Given the description of an element on the screen output the (x, y) to click on. 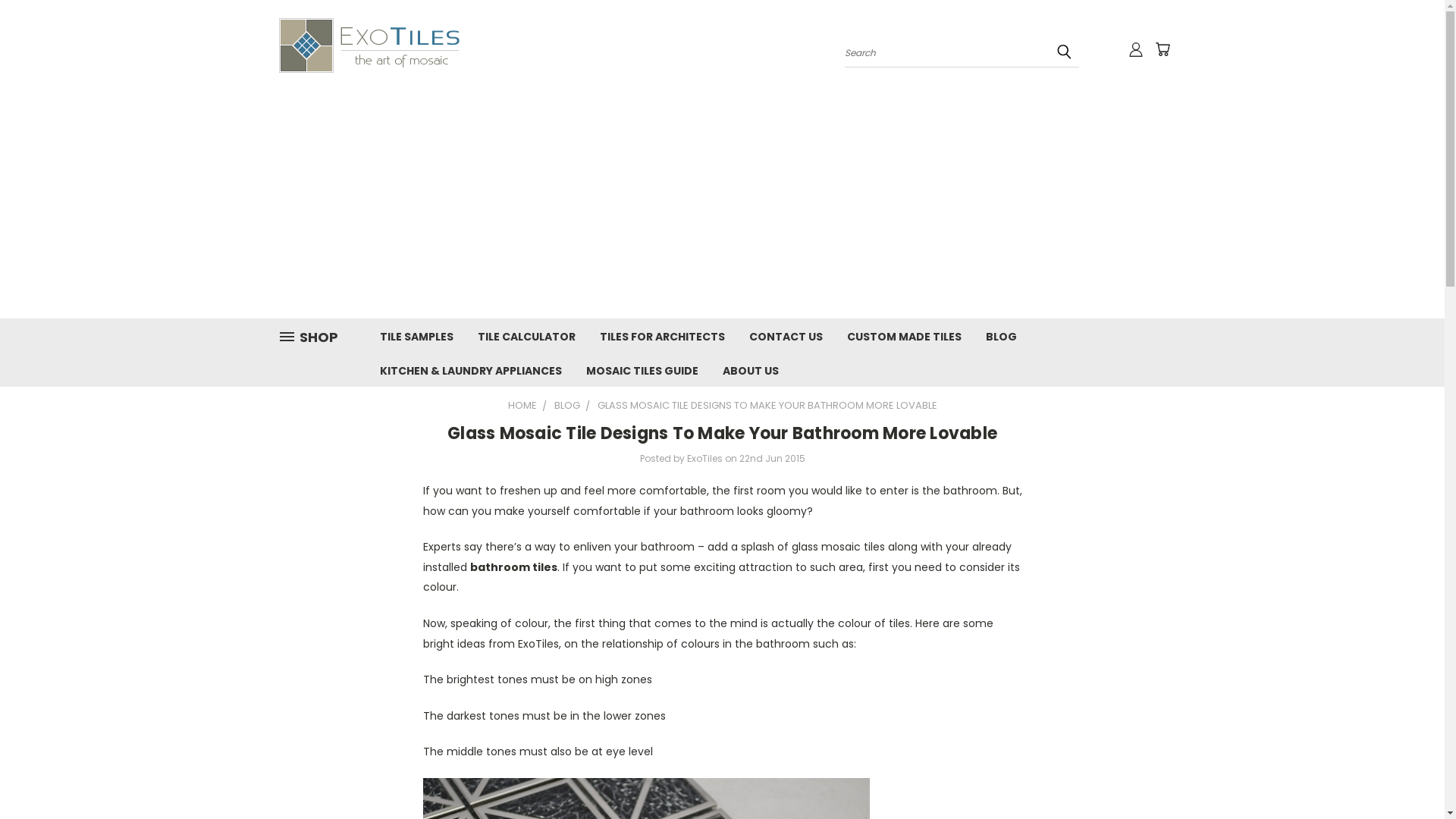
BLOG Element type: text (1001, 335)
Glass Mosaic Tile Designs To Make Your Bathroom More Lovable Element type: text (722, 433)
ExoTiles Element type: hover (370, 45)
CUSTOM MADE TILES Element type: text (903, 335)
KITCHEN & LAUNDRY APPLIANCES Element type: text (470, 369)
TILE SAMPLES Element type: text (415, 335)
BLOG Element type: text (566, 405)
MOSAIC TILES GUIDE Element type: text (641, 369)
CONTACT US Element type: text (785, 335)
Advertisement Element type: hover (721, 204)
SHOP Element type: text (314, 336)
ABOUT US Element type: text (749, 369)
submit Element type: hover (1063, 51)
HOME Element type: text (522, 405)
TILES FOR ARCHITECTS Element type: text (661, 335)
TILE CALCULATOR Element type: text (526, 335)
